Given the description of an element on the screen output the (x, y) to click on. 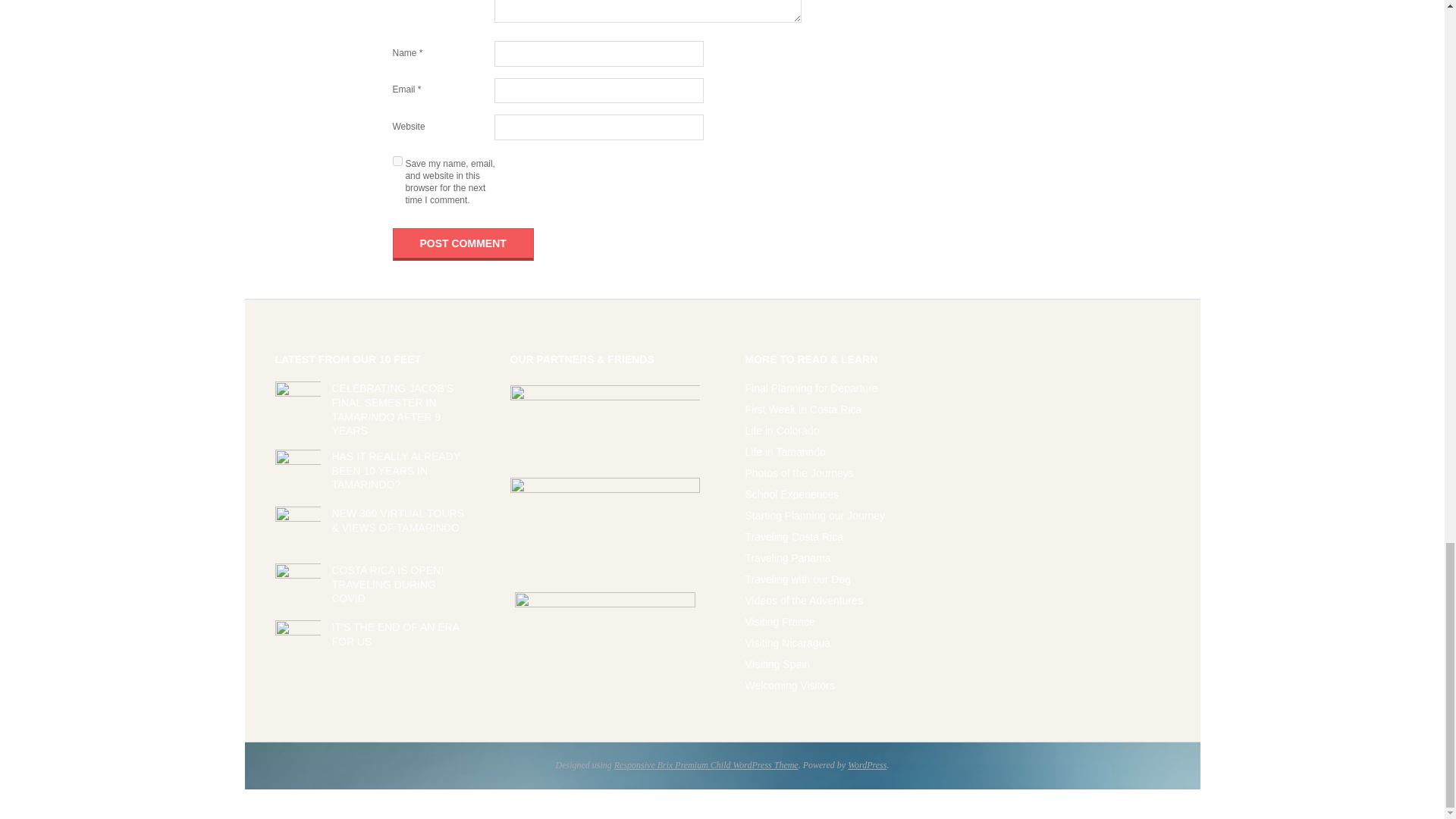
Responsive Brix Premium Child WordPress Theme (705, 765)
Post Comment (463, 244)
State-of-the-art semantic personal publishing platform (866, 765)
yes (398, 161)
